Given the description of an element on the screen output the (x, y) to click on. 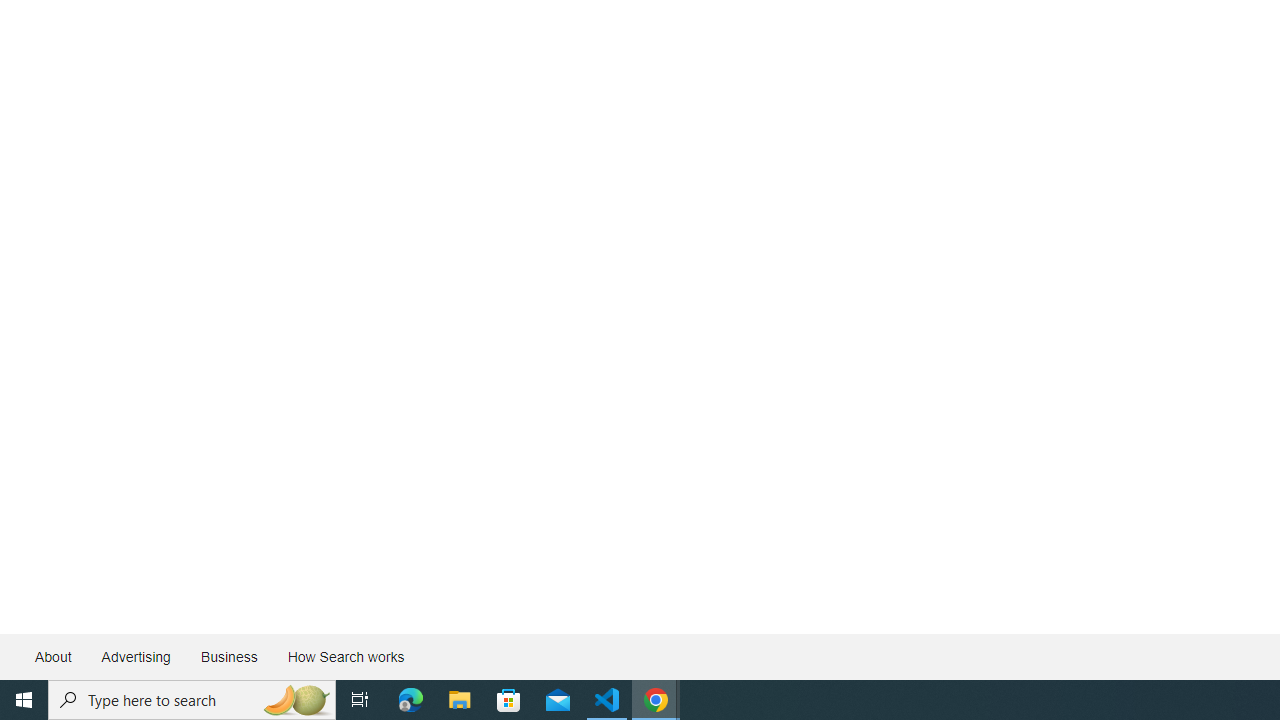
About (53, 656)
How Search works (345, 656)
Business (228, 656)
Advertising (135, 656)
